Given the description of an element on the screen output the (x, y) to click on. 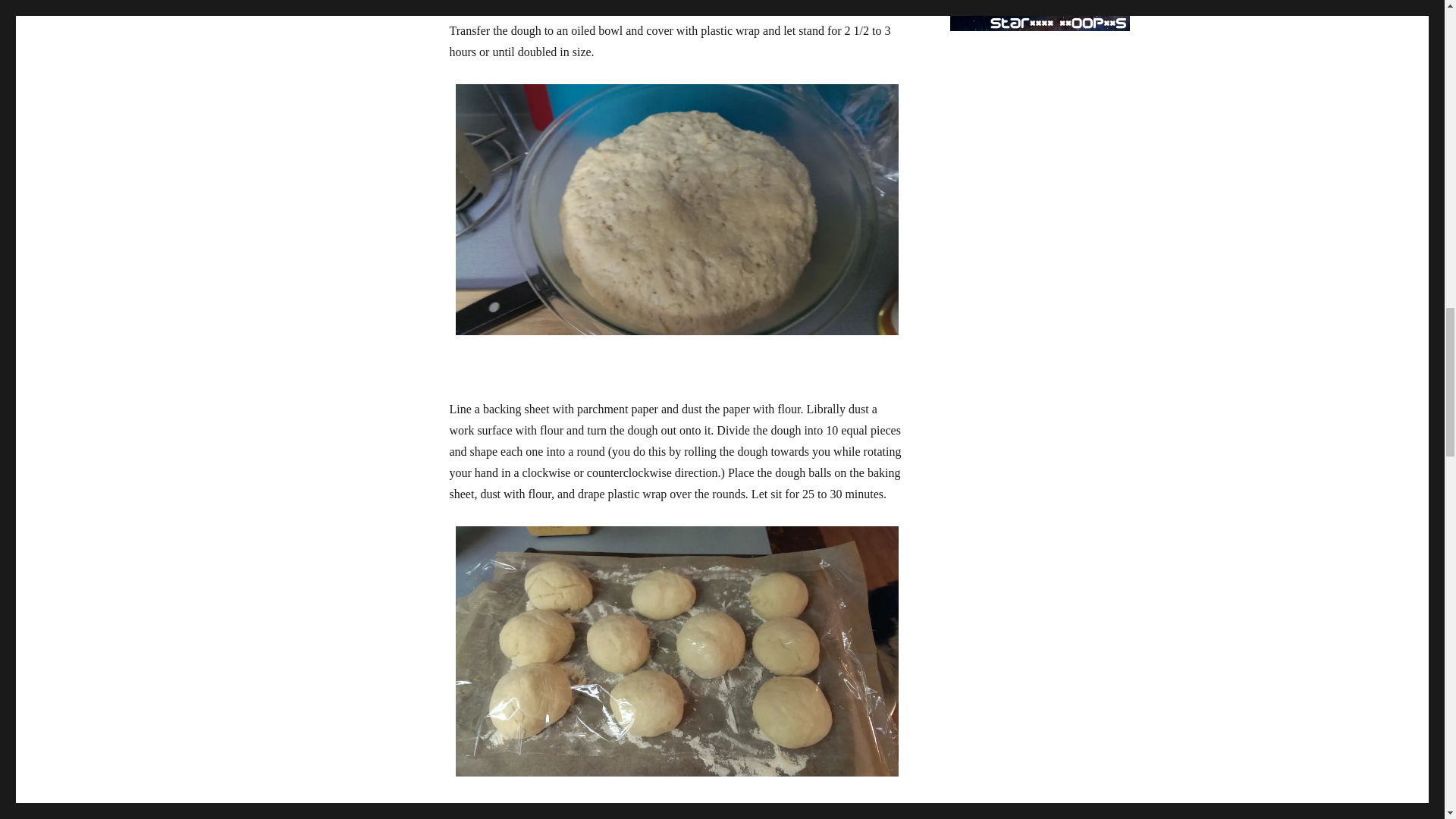
Star Oops (1039, 15)
